Given the description of an element on the screen output the (x, y) to click on. 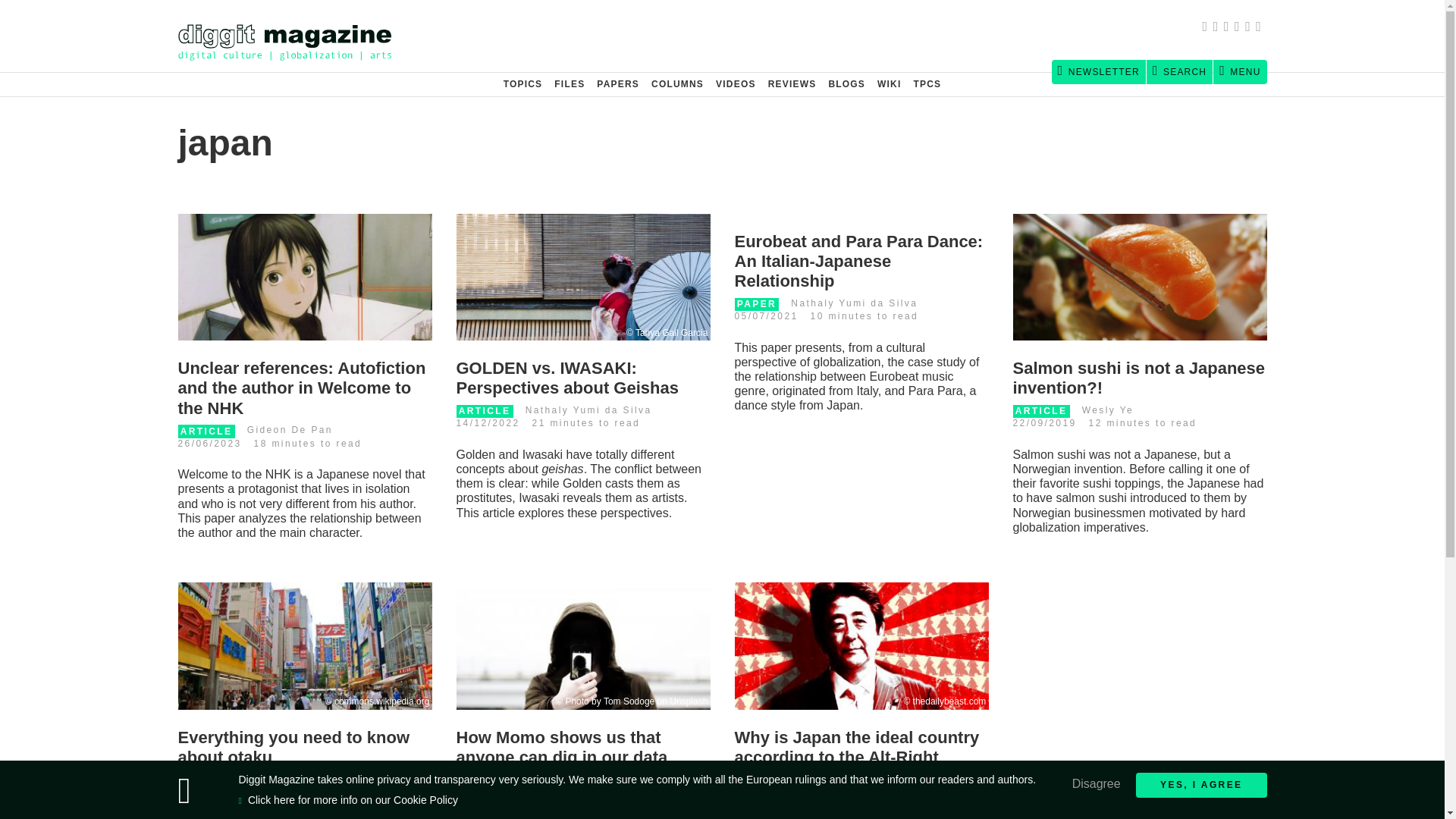
Salmon sushi, not a Japanese invention! (1139, 277)
Welcome To The NHK cover (303, 277)
FILES (569, 83)
PAPERS (618, 83)
TWITTER (1218, 27)
REVIEWS (791, 83)
TOPICS (522, 83)
Home (290, 36)
COLUMNS (677, 83)
